Given the description of an element on the screen output the (x, y) to click on. 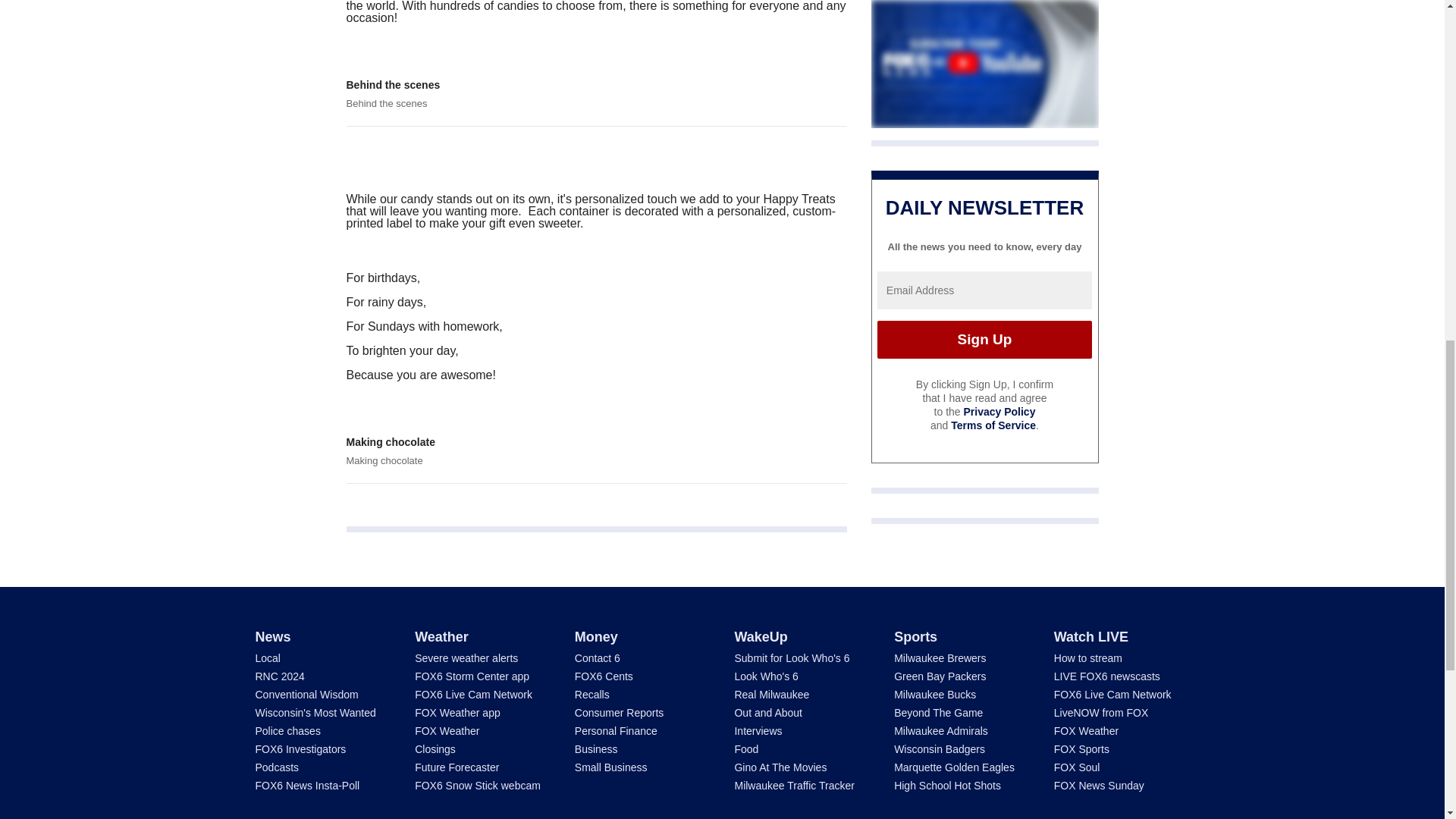
Sign Up (984, 339)
